Given the description of an element on the screen output the (x, y) to click on. 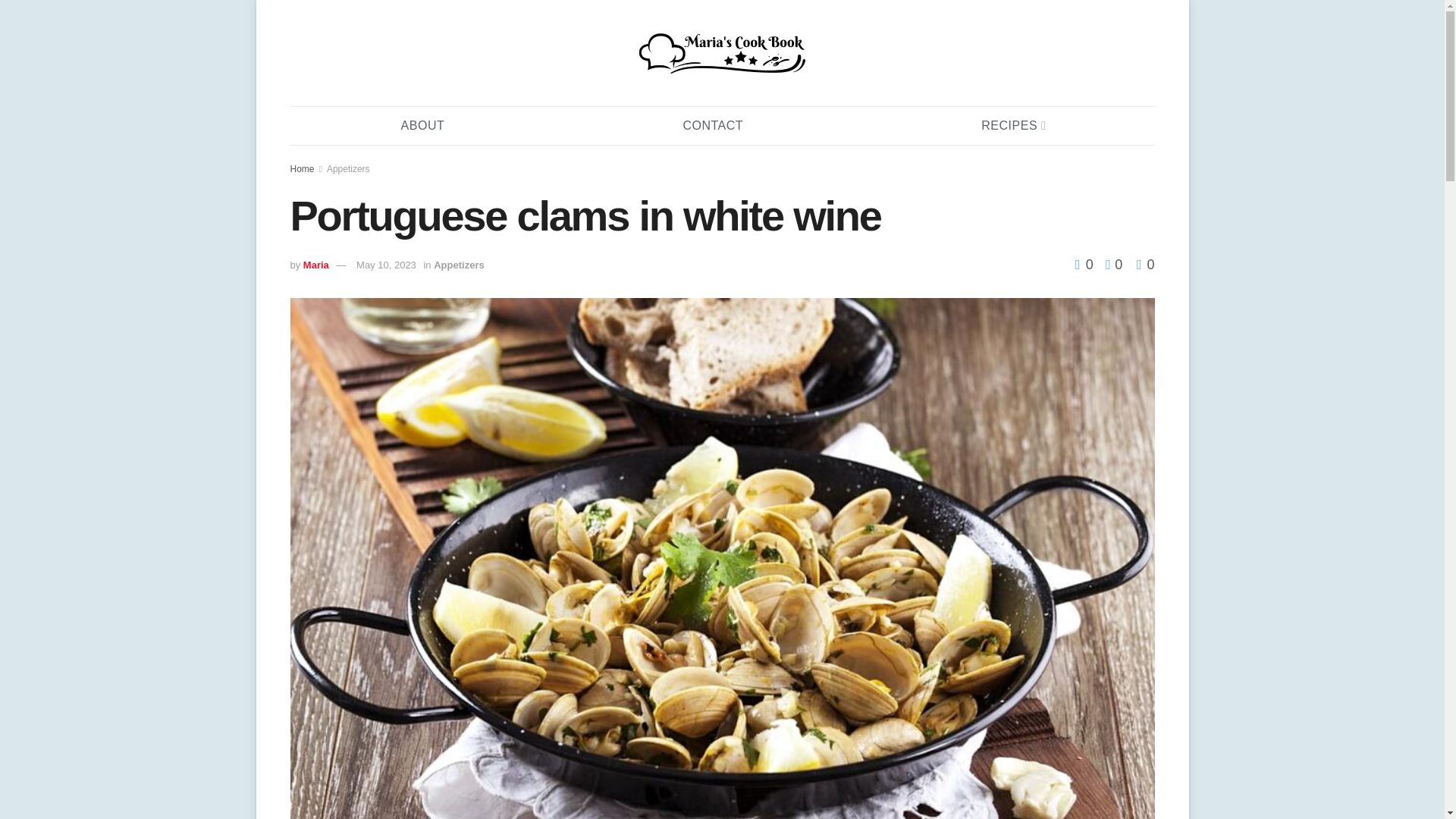
ABOUT (423, 125)
Appetizers (347, 168)
Appetizers (458, 265)
Maria (315, 265)
RECIPES (1012, 125)
Home (301, 168)
May 10, 2023 (386, 265)
CONTACT (712, 125)
